Given the description of an element on the screen output the (x, y) to click on. 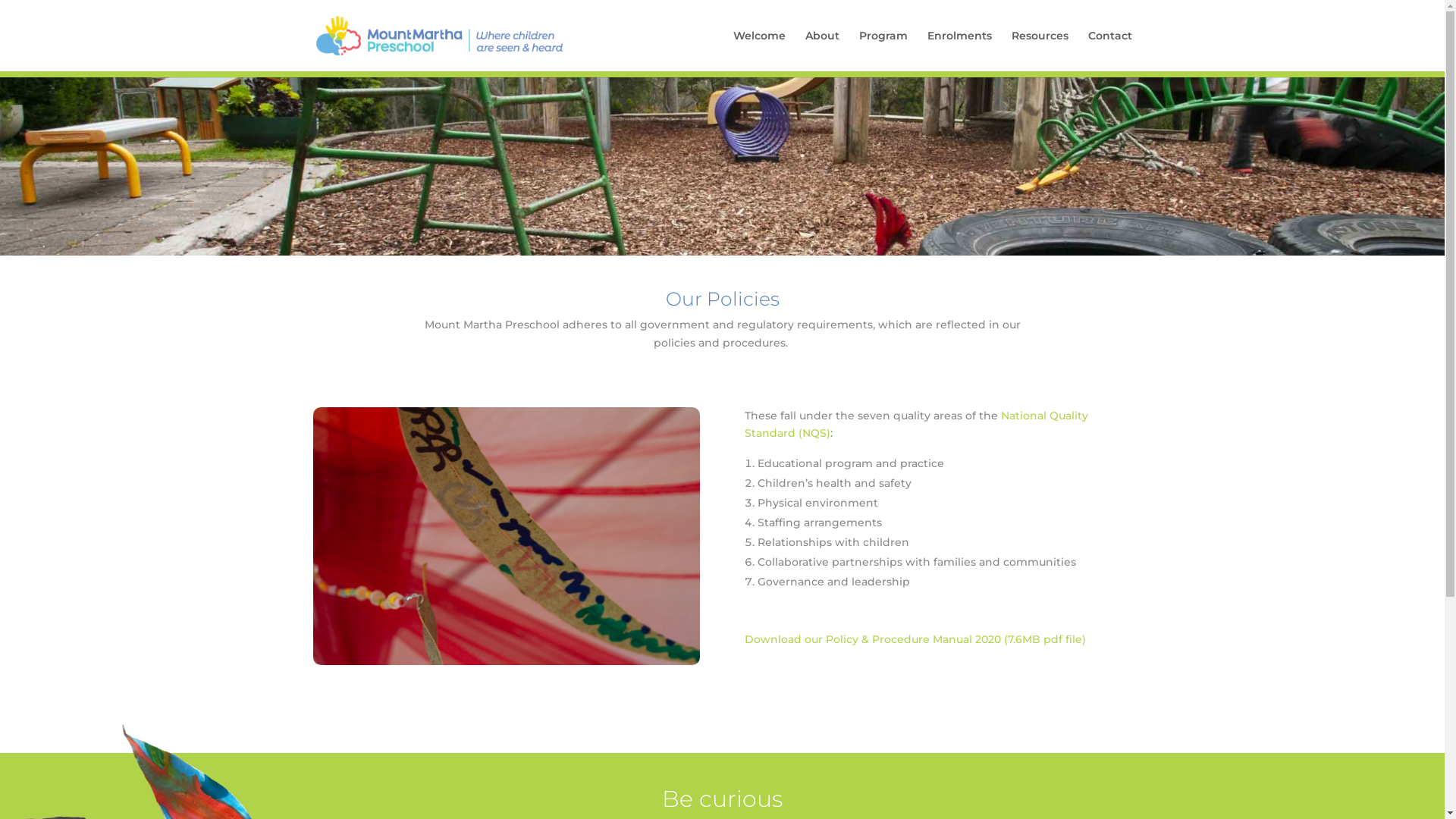
Contact Element type: text (1109, 50)
National Quality Standard (NQS) Element type: text (916, 424)
Download our Policy & Procedure Manual 2020 (7.6MB pdf file) Element type: text (914, 639)
Resources Element type: text (1039, 50)
Enrolments Element type: text (958, 50)
Program Element type: text (882, 50)
About Element type: text (822, 50)
Welcome Element type: text (758, 50)
